Given the description of an element on the screen output the (x, y) to click on. 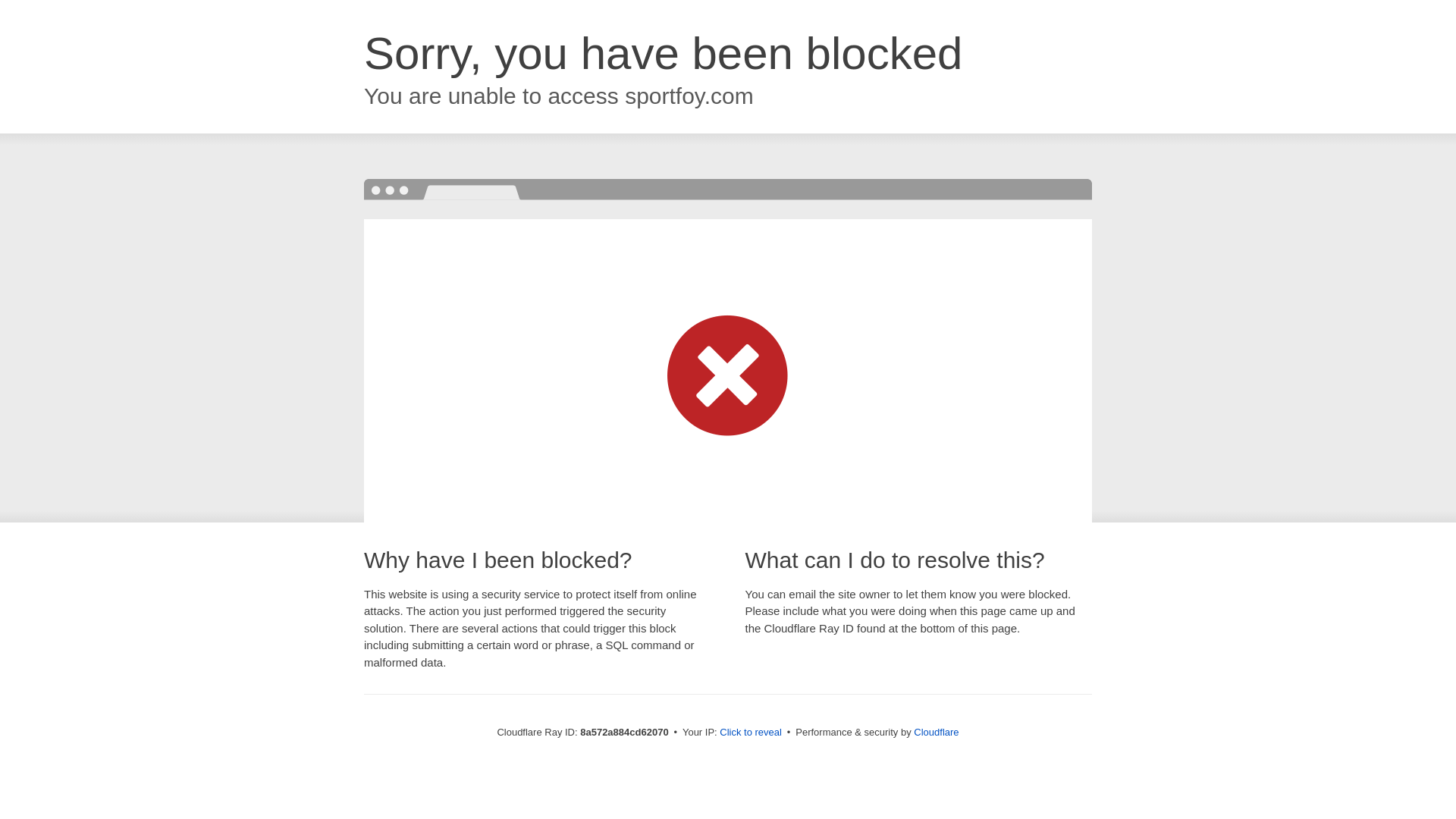
Cloudflare (936, 731)
Click to reveal (750, 732)
